Given the description of an element on the screen output the (x, y) to click on. 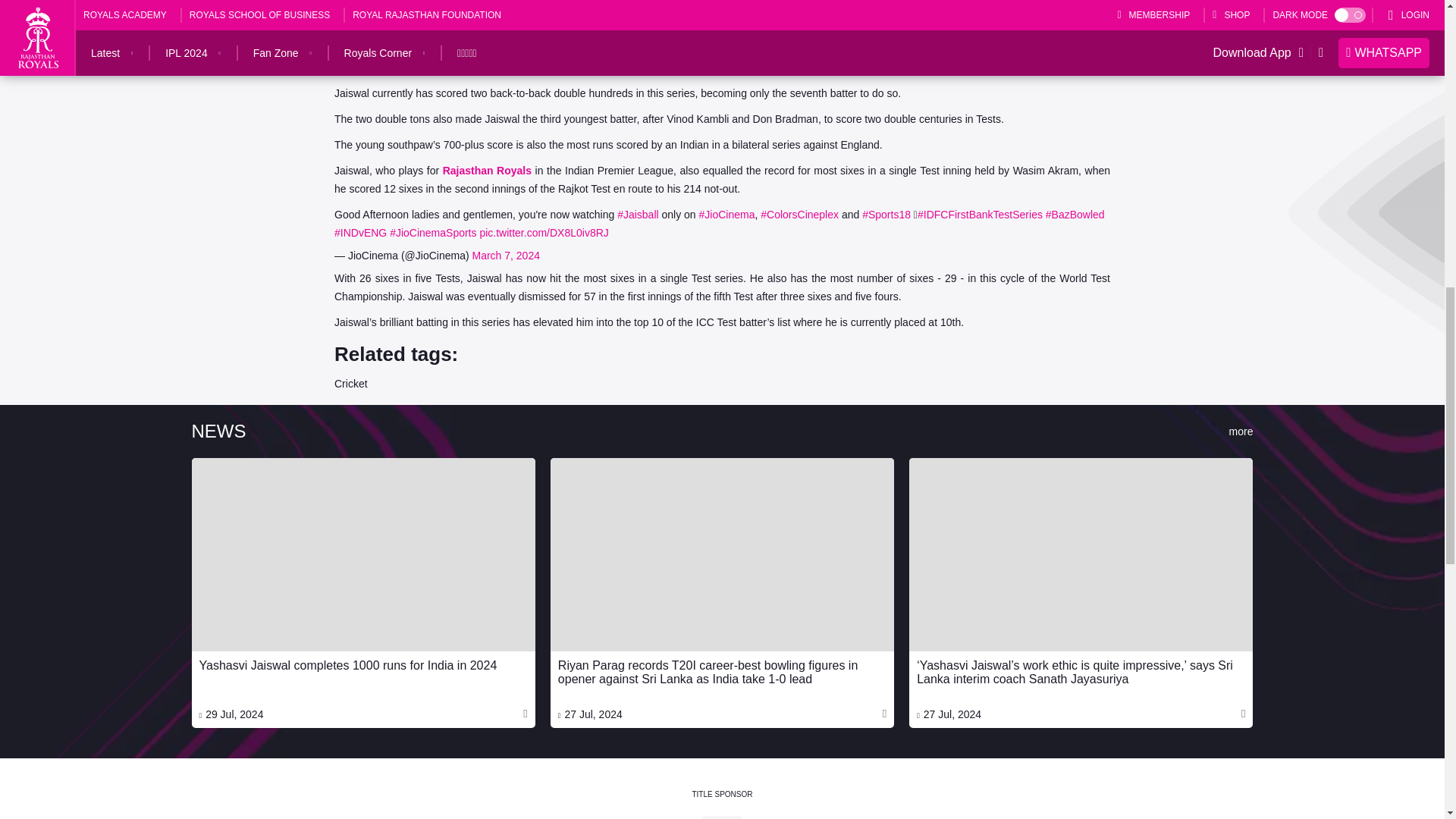
Cricket (351, 383)
more (1240, 431)
